Given the description of an element on the screen output the (x, y) to click on. 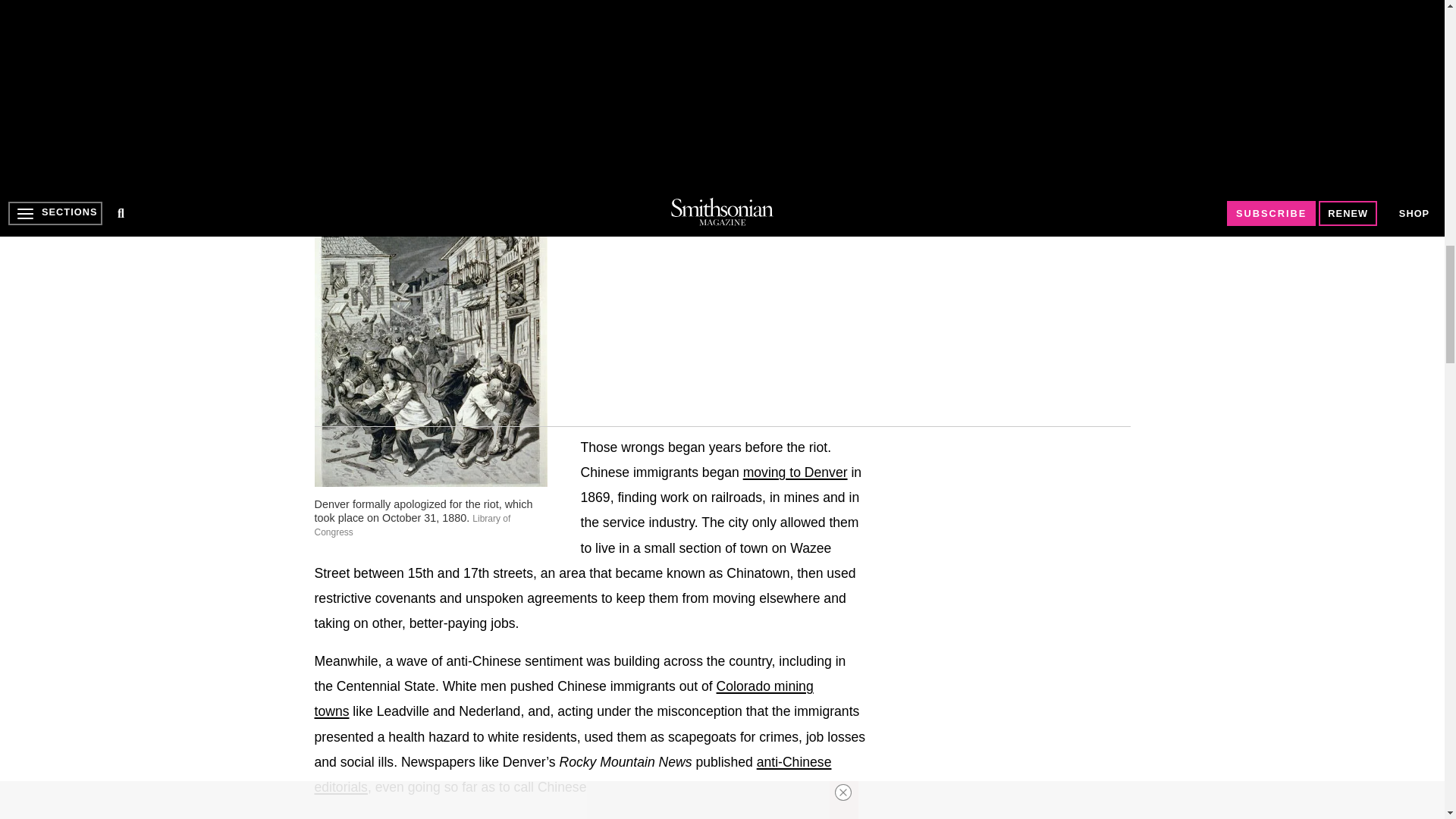
3rd party ad content (1015, 574)
